Given the description of an element on the screen output the (x, y) to click on. 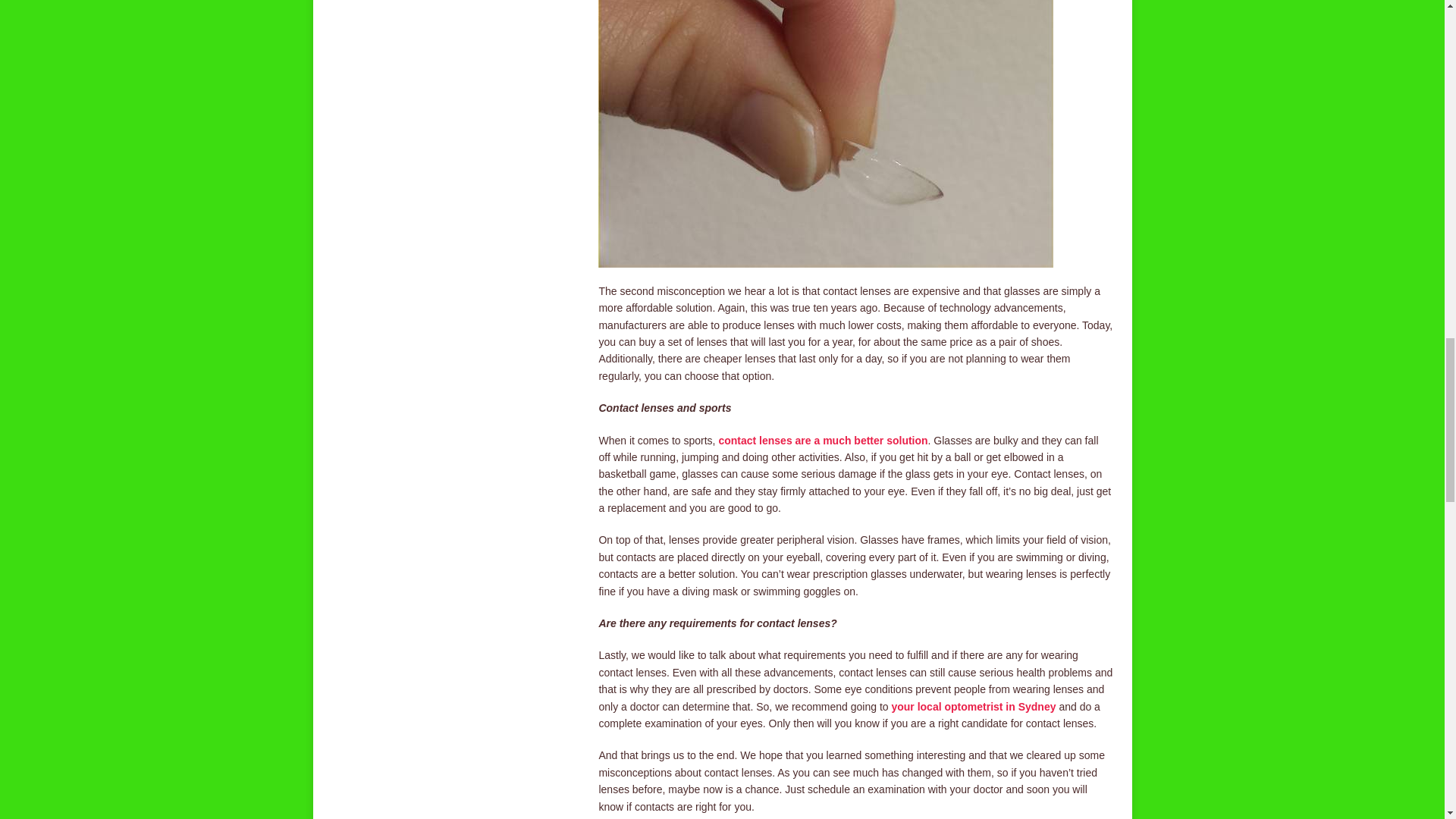
contact lenses are a much better solution (822, 440)
your local optometrist in Sydney (973, 706)
